Given the description of an element on the screen output the (x, y) to click on. 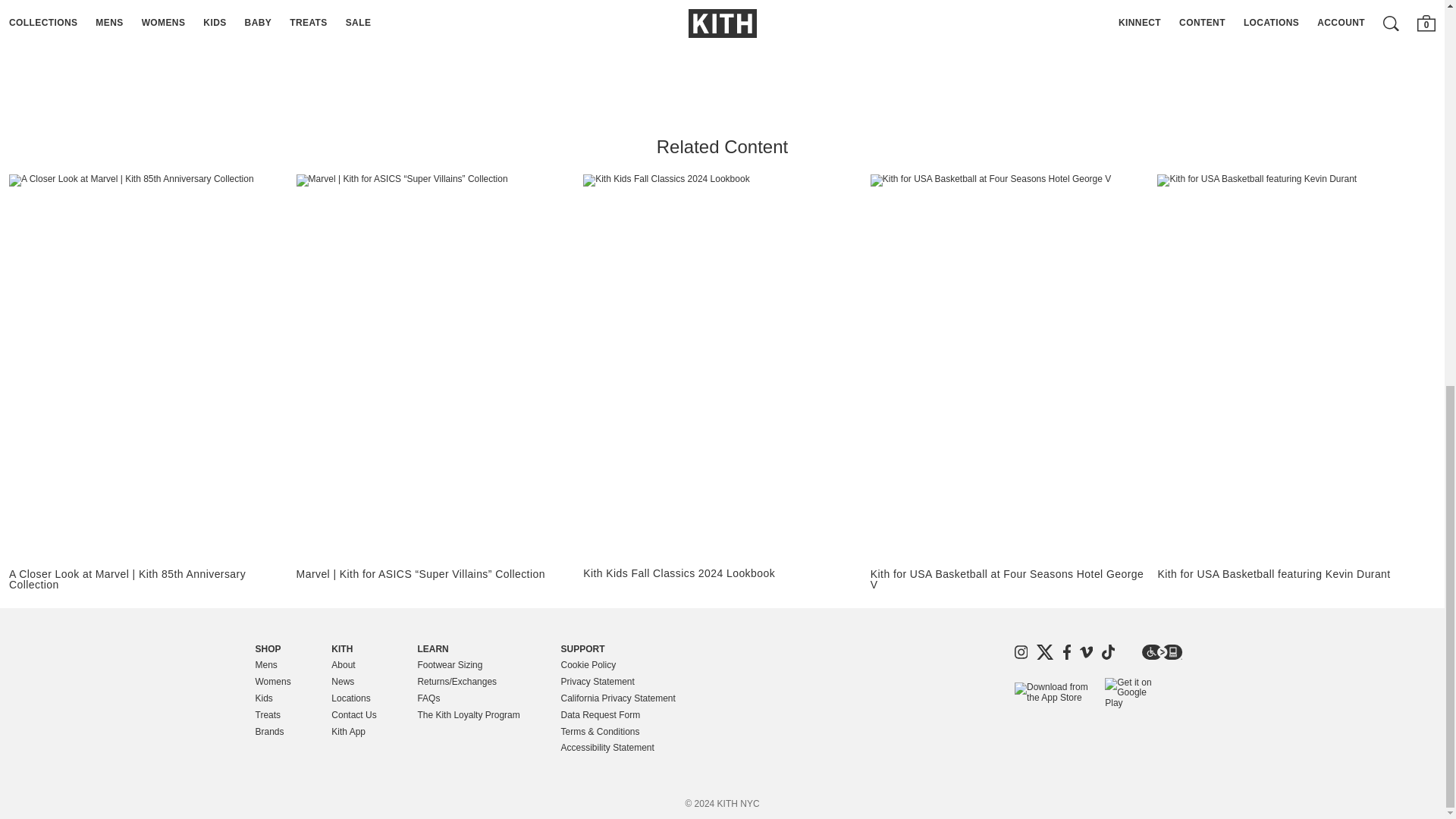
Instagram (1020, 652)
X (1044, 652)
Vimeo (1086, 652)
essential Accessibility Icon (1161, 652)
X (1044, 652)
